Given the description of an element on the screen output the (x, y) to click on. 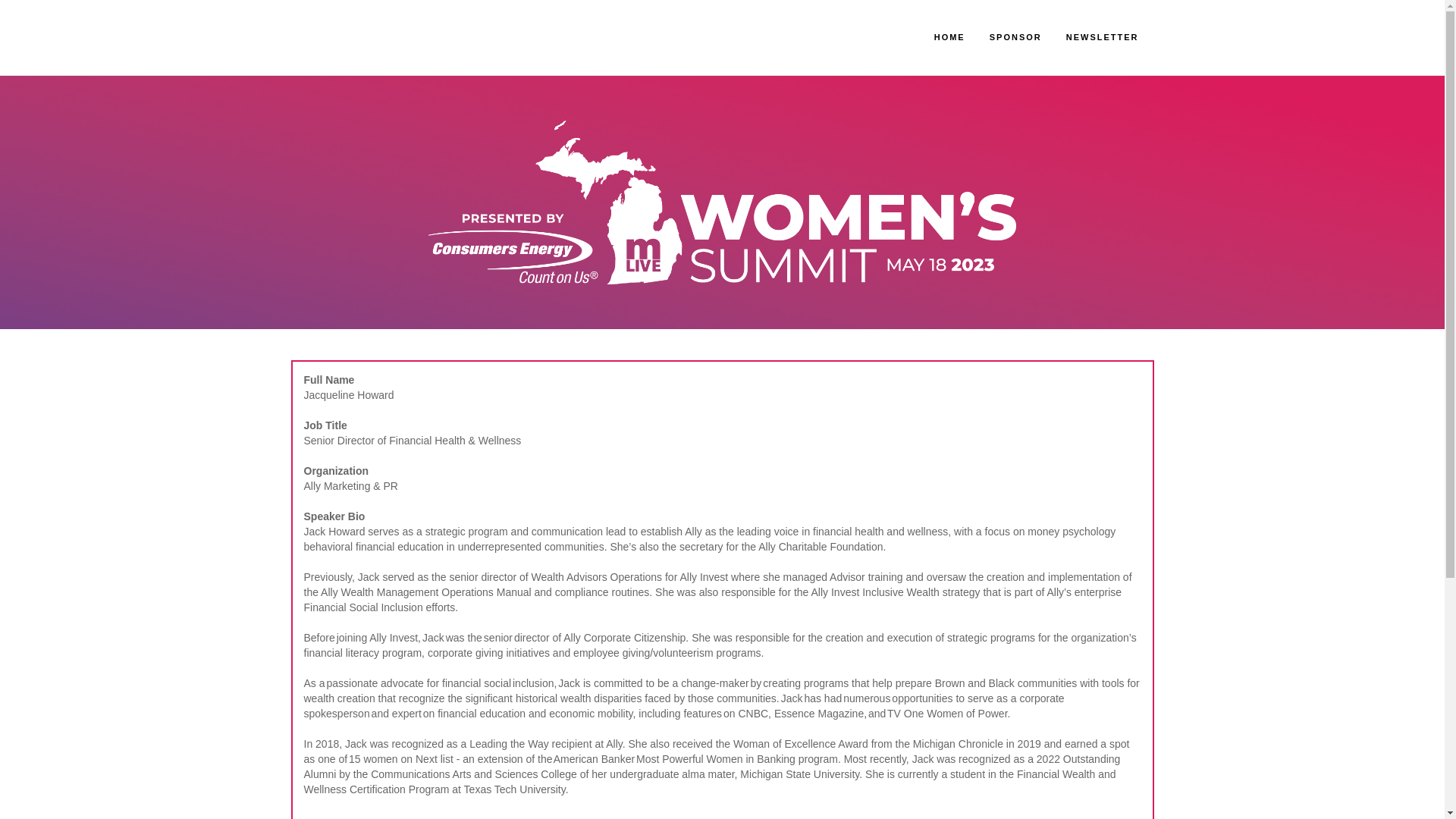
NEWSLETTER (1102, 37)
SPONSOR (1015, 37)
HOME (950, 37)
